Given the description of an element on the screen output the (x, y) to click on. 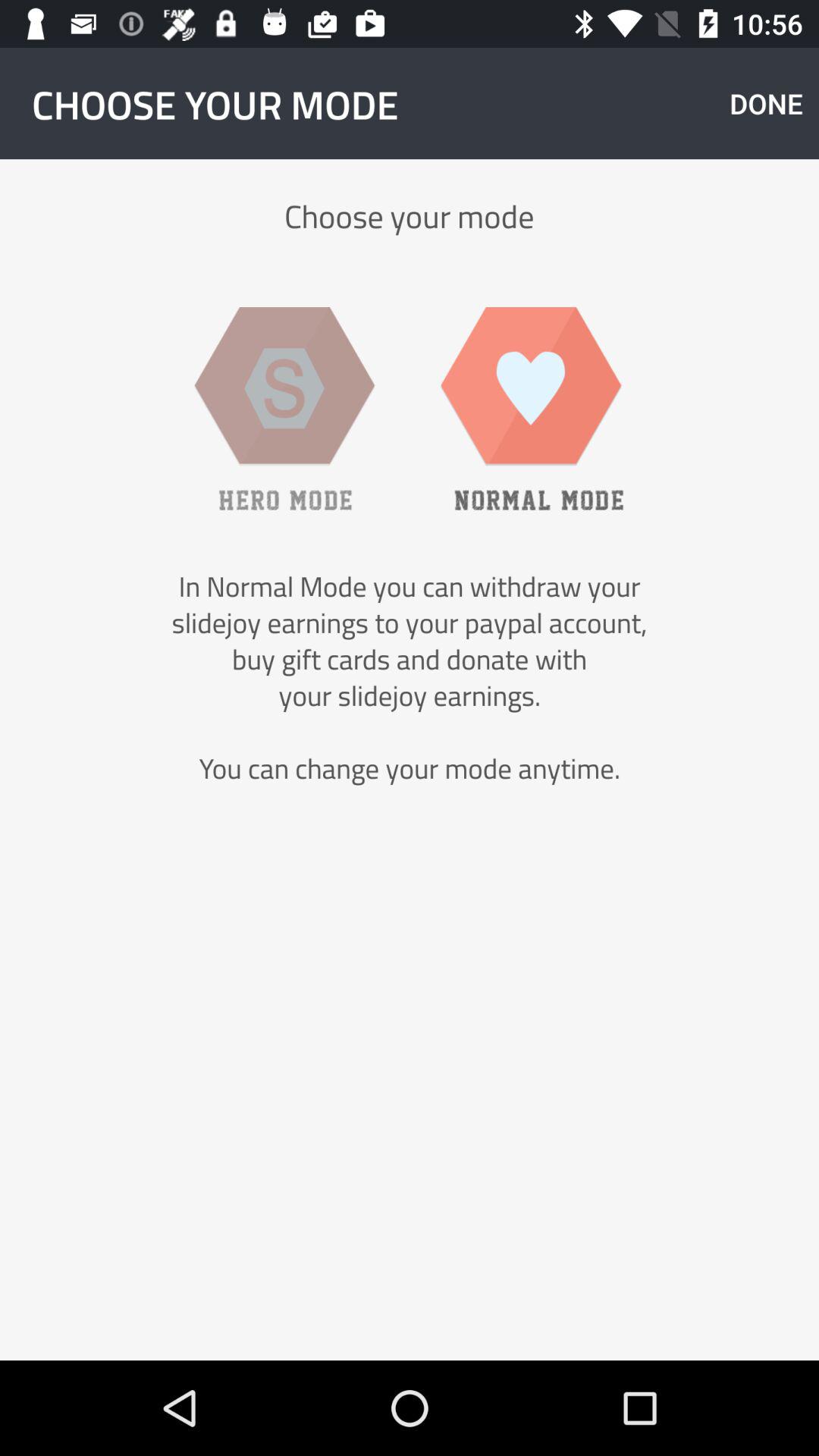
open the item at the top right corner (766, 103)
